Given the description of an element on the screen output the (x, y) to click on. 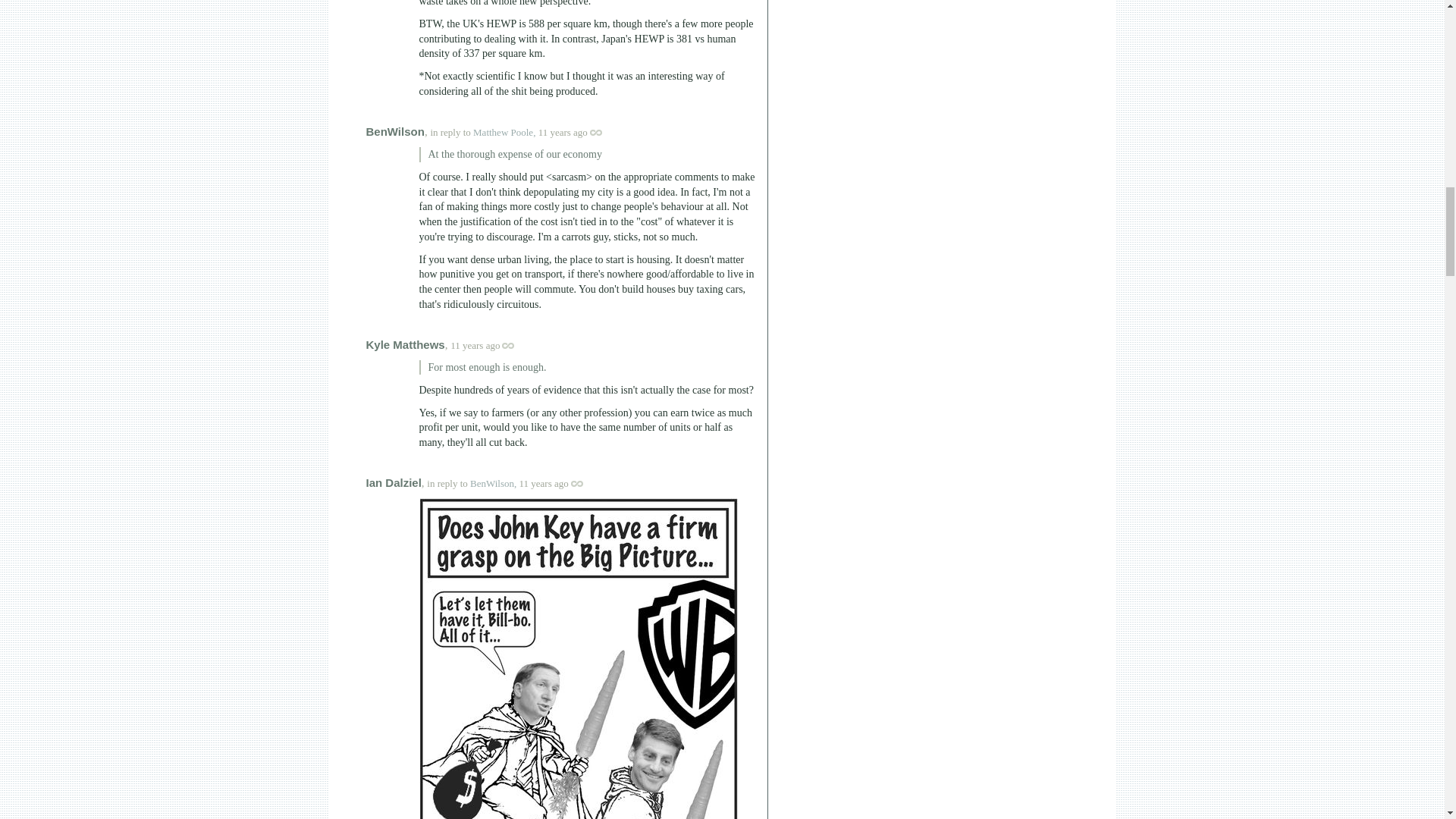
10:03 Dec 3, 2012 (544, 482)
09:45 Dec 3, 2012 (474, 345)
09:42 Dec 3, 2012 (563, 132)
